Given the description of an element on the screen output the (x, y) to click on. 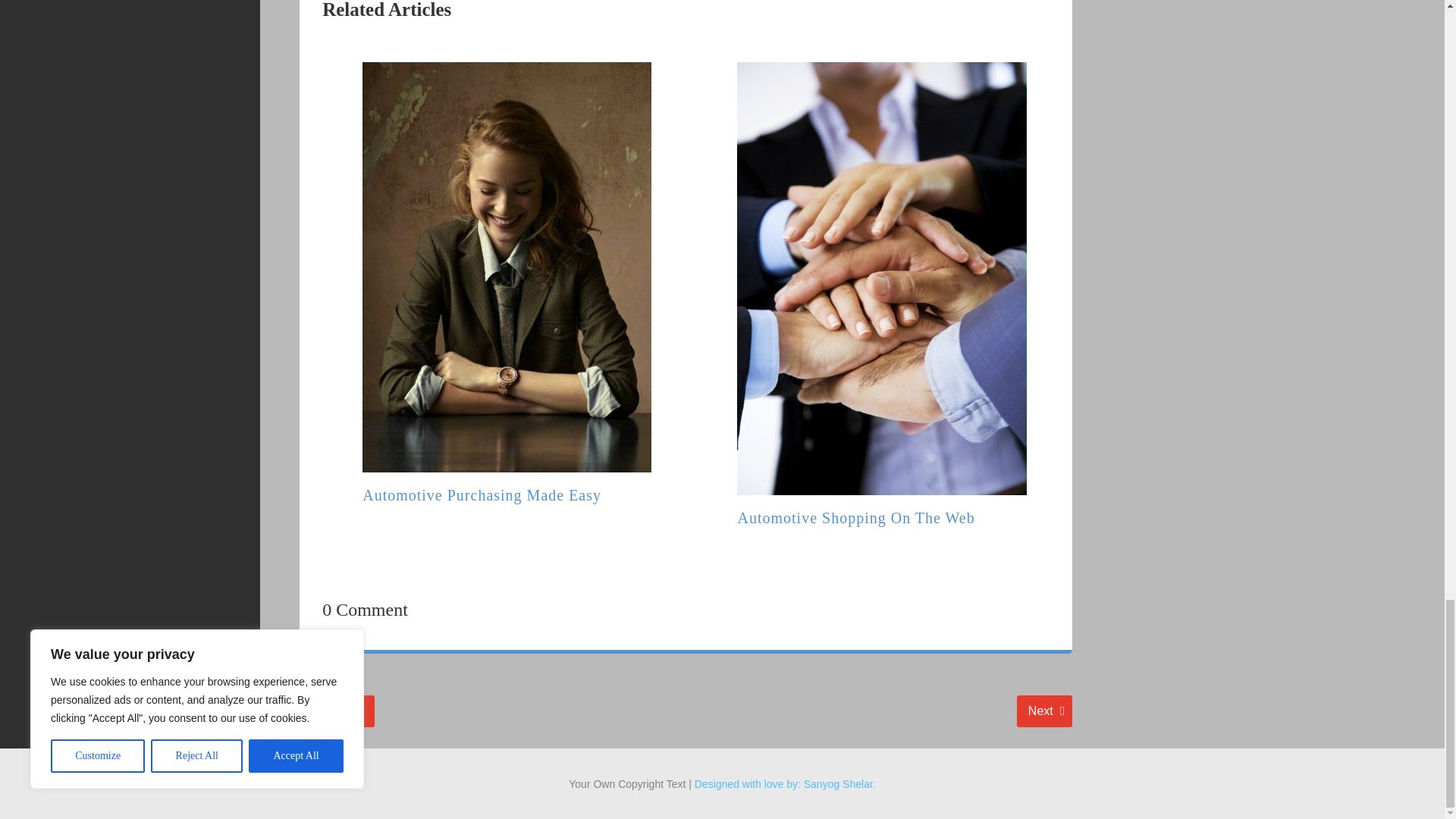
Automotive Shopping On The Web (335, 711)
Automotive Purchasing Made Easy (855, 517)
